Given the description of an element on the screen output the (x, y) to click on. 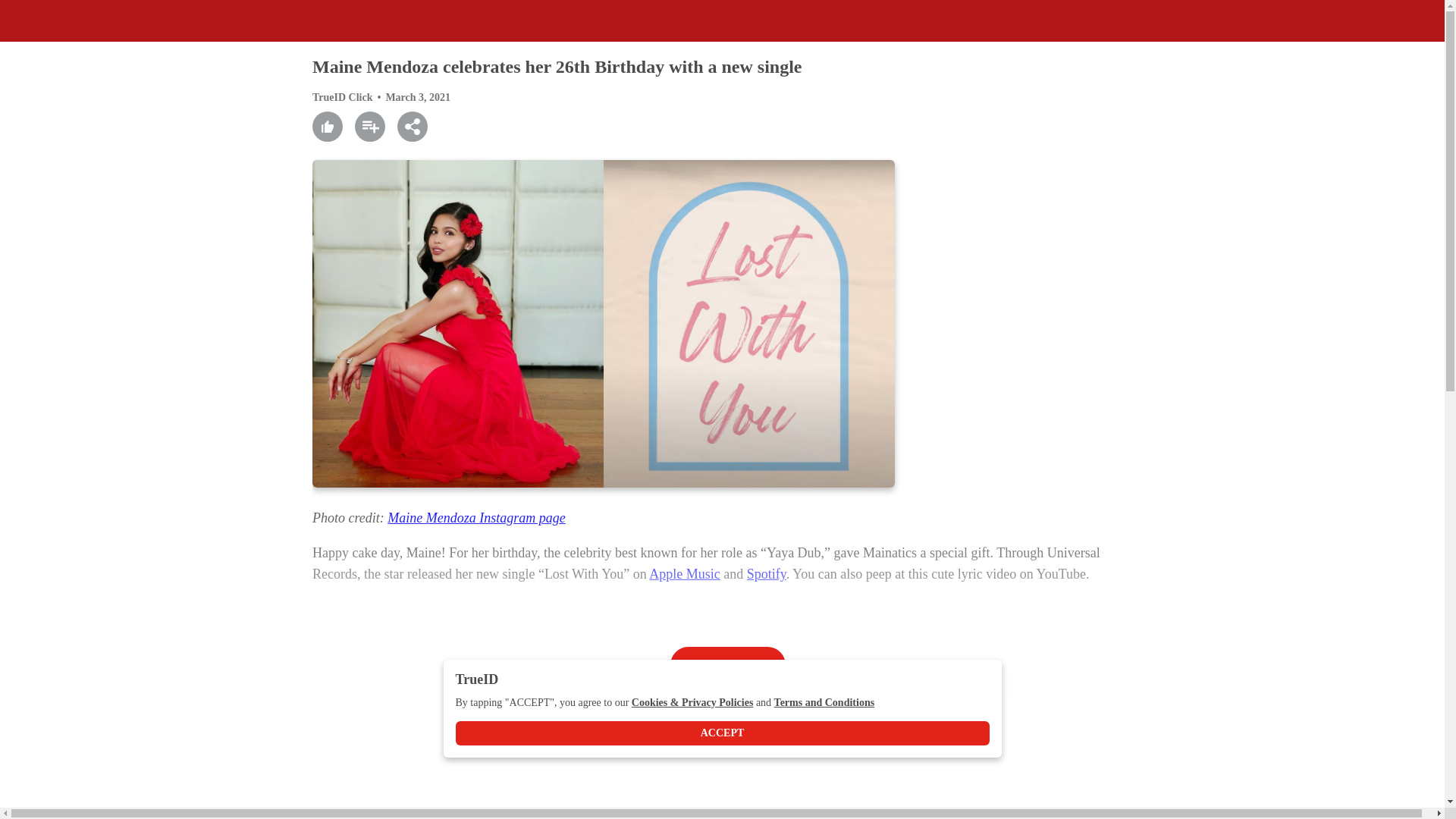
Apple Music (684, 573)
ACCEPT (721, 733)
Spotify (766, 573)
Maine Mendoza Instagram page (475, 517)
Terms and Conditions (824, 702)
